Given the description of an element on the screen output the (x, y) to click on. 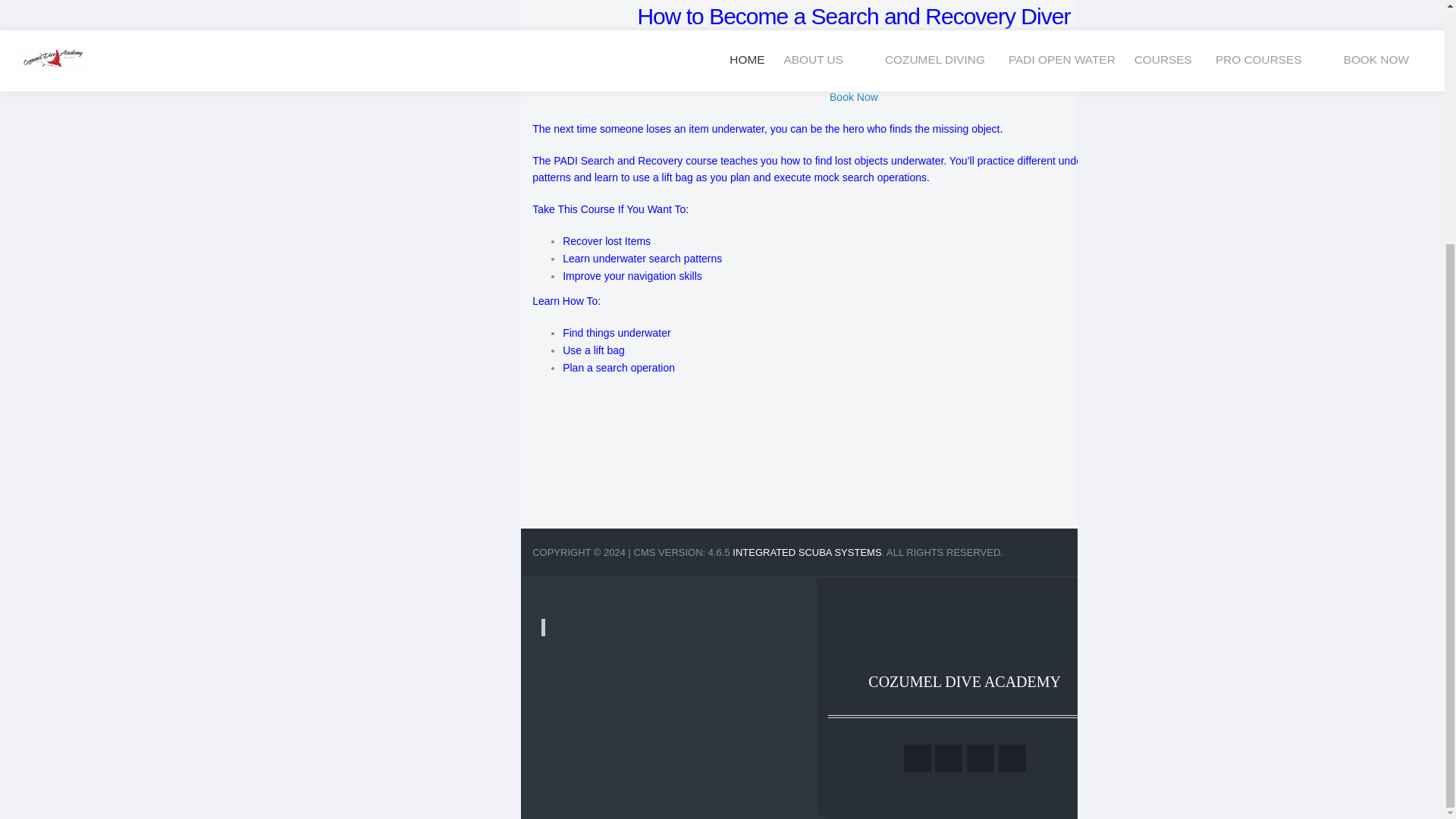
YouTube (980, 758)
Instagram (1012, 758)
Twitter (948, 758)
Facebook (917, 758)
